Given the description of an element on the screen output the (x, y) to click on. 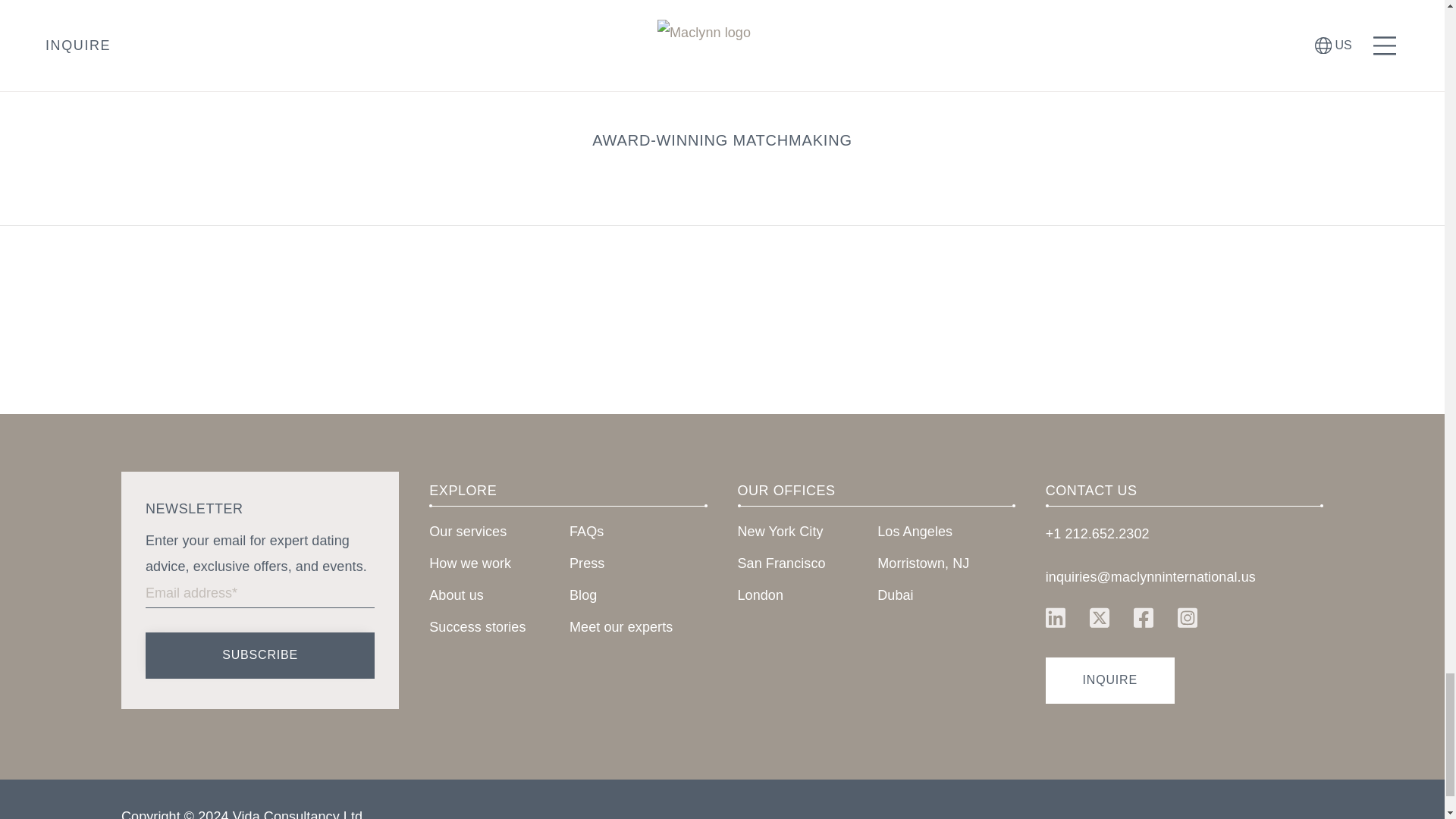
Find Maclynn on LinkedIn (1055, 616)
Find Maclynn on Instagram (1188, 616)
Find Maclynn on X (1099, 616)
Find Maclynn on Facebook (1142, 616)
